Given the description of an element on the screen output the (x, y) to click on. 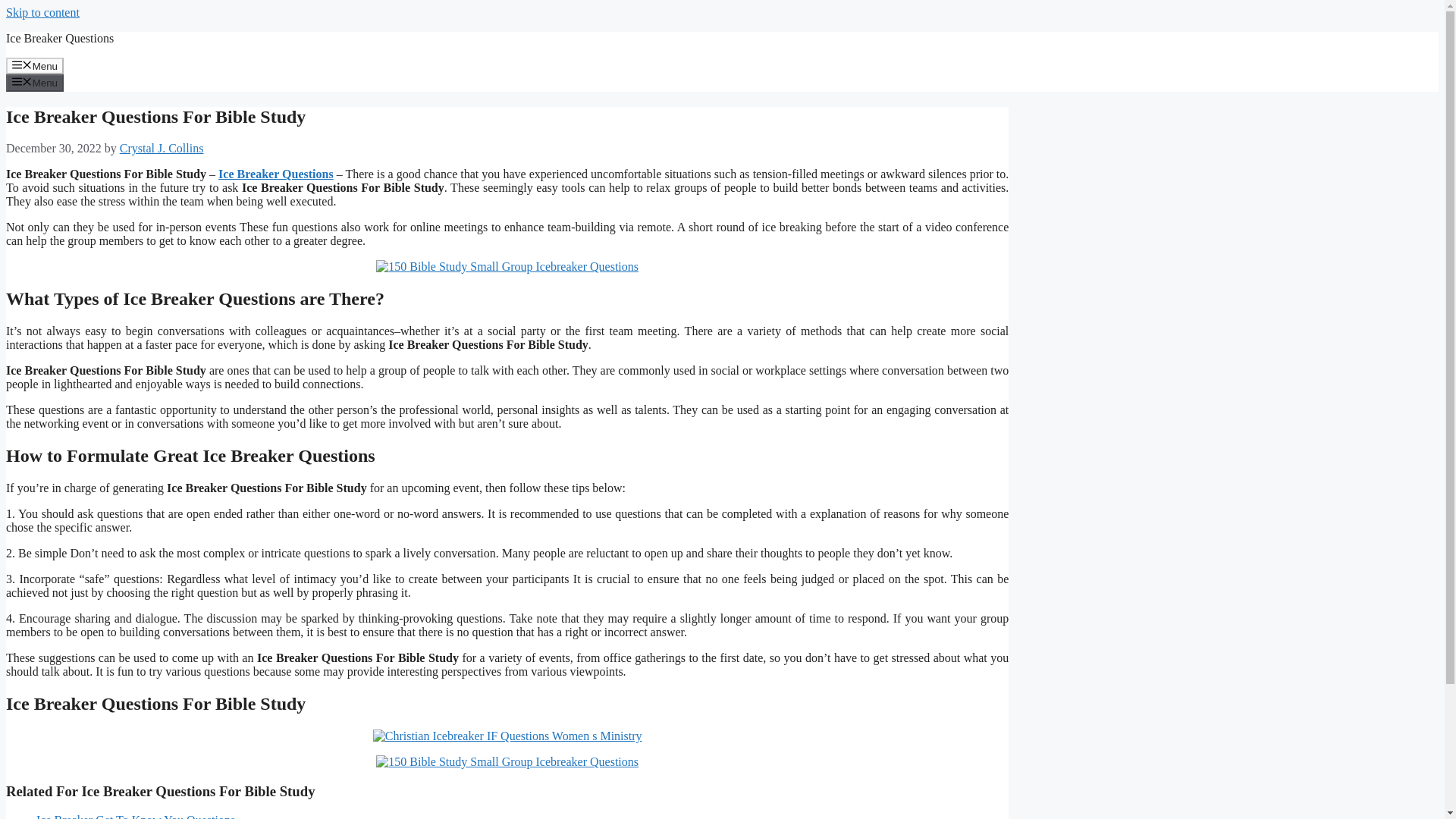
Menu (34, 65)
Skip to content (42, 11)
Ice Breaker Get To Know You Questions (135, 816)
Ice Breaker Questions (275, 173)
Skip to content (42, 11)
Crystal J. Collins (161, 147)
View all posts by Crystal J. Collins (161, 147)
Ice Breaker Questions (59, 38)
Menu (34, 82)
